Given the description of an element on the screen output the (x, y) to click on. 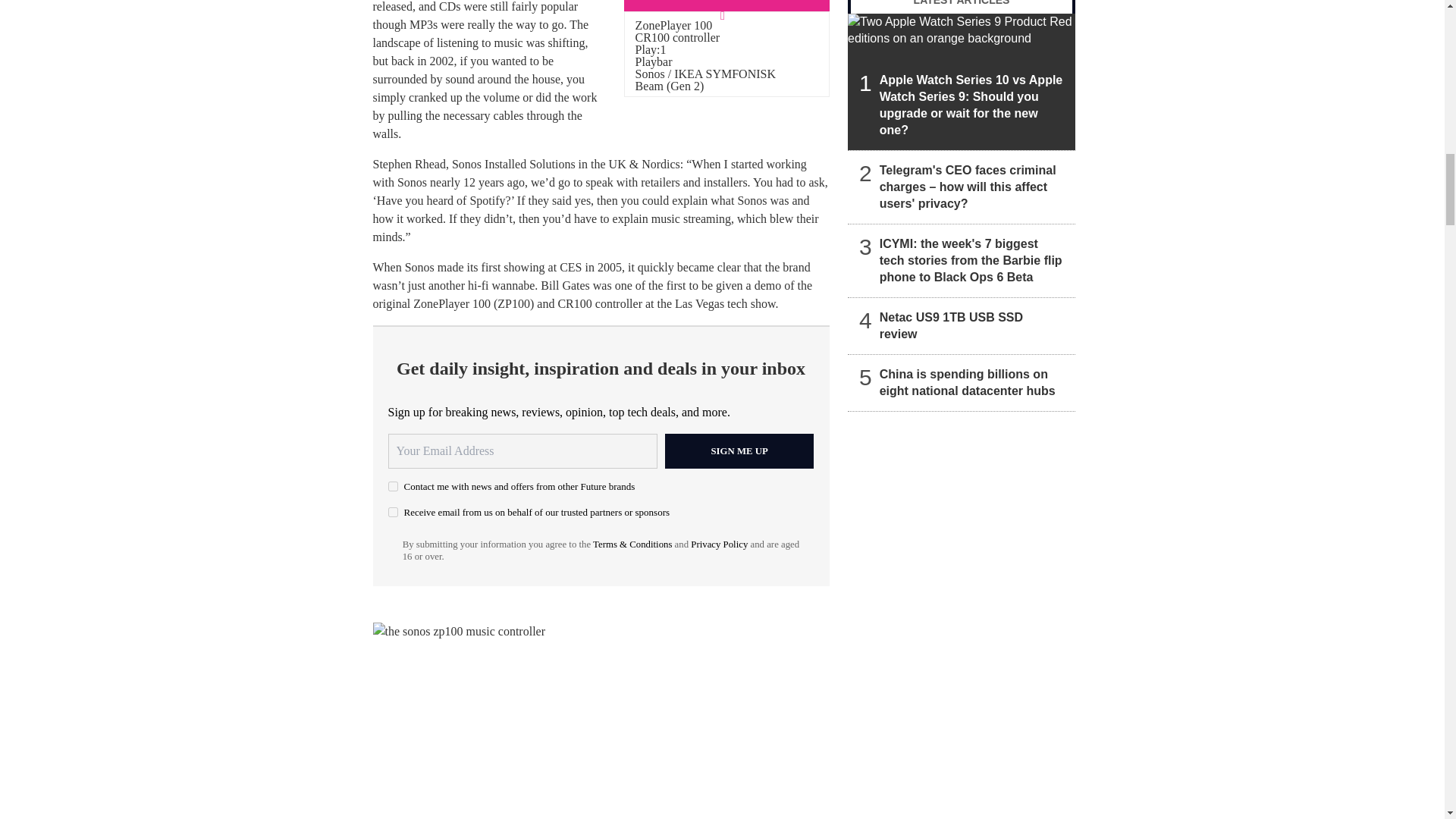
on (392, 511)
Sign me up (739, 451)
on (392, 486)
